Given the description of an element on the screen output the (x, y) to click on. 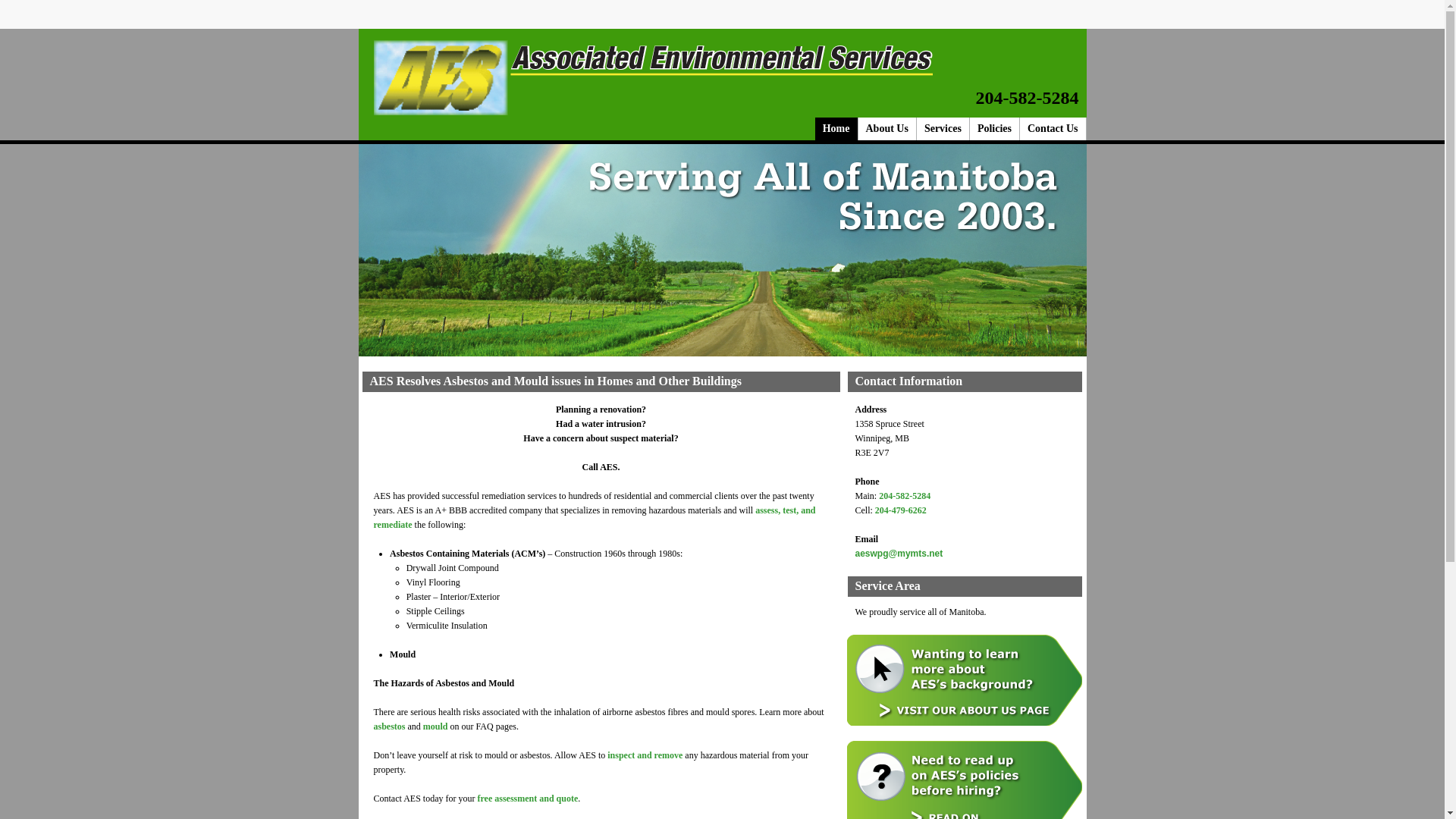
Embedded Content Element type: hover (948, 19)
Contact Us Element type: text (1052, 128)
asbestos Element type: text (388, 726)
aeswpg@mymts.net Element type: text (899, 553)
Services Element type: text (942, 128)
Home Element type: text (836, 128)
assess, test, and remediate Element type: text (594, 517)
Policies Element type: text (994, 128)
mould Element type: text (435, 726)
inspect and remove Element type: text (644, 754)
Embedded Content Element type: hover (1069, 19)
About Us Element type: text (887, 128)
free assessment and quote Element type: text (526, 798)
